Given the description of an element on the screen output the (x, y) to click on. 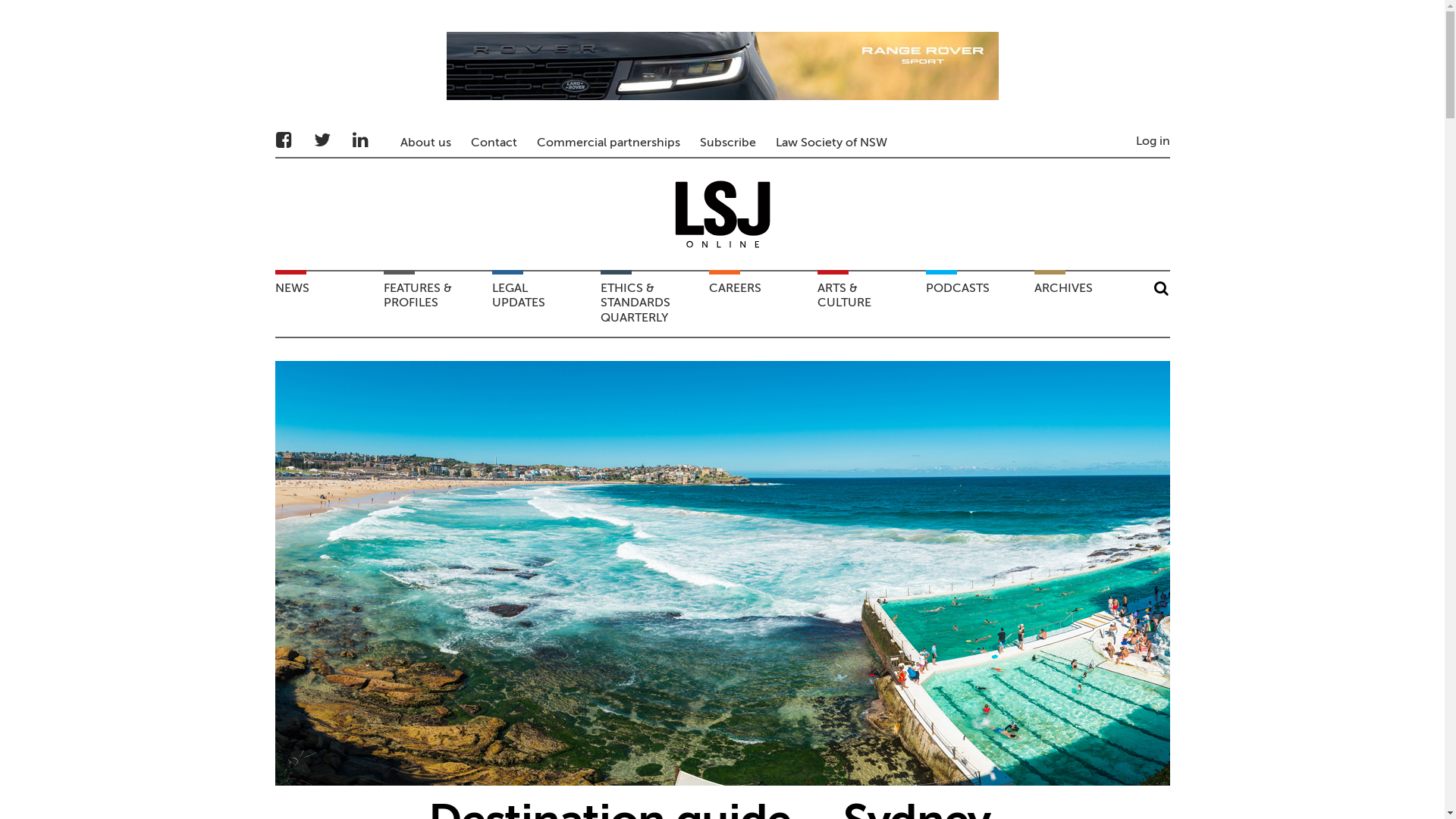
Commercial partnerships Element type: text (608, 143)
About us Element type: text (425, 143)
NEWS Element type: text (324, 303)
PODCASTS Element type: text (975, 303)
CAREERS Element type: text (759, 303)
Log in Element type: text (1152, 141)
Law Society of NSW Element type: text (830, 143)
Subscribe Element type: text (727, 143)
ARCHIVES Element type: text (1084, 303)
LEGAL UPDATES Element type: text (542, 303)
FEATURES & PROFILES Element type: text (433, 303)
ARTS & CULTURE Element type: text (867, 303)
ETHICS & STANDARDS QUARTERLY Element type: text (650, 303)
Contact Element type: text (493, 143)
